Given the description of an element on the screen output the (x, y) to click on. 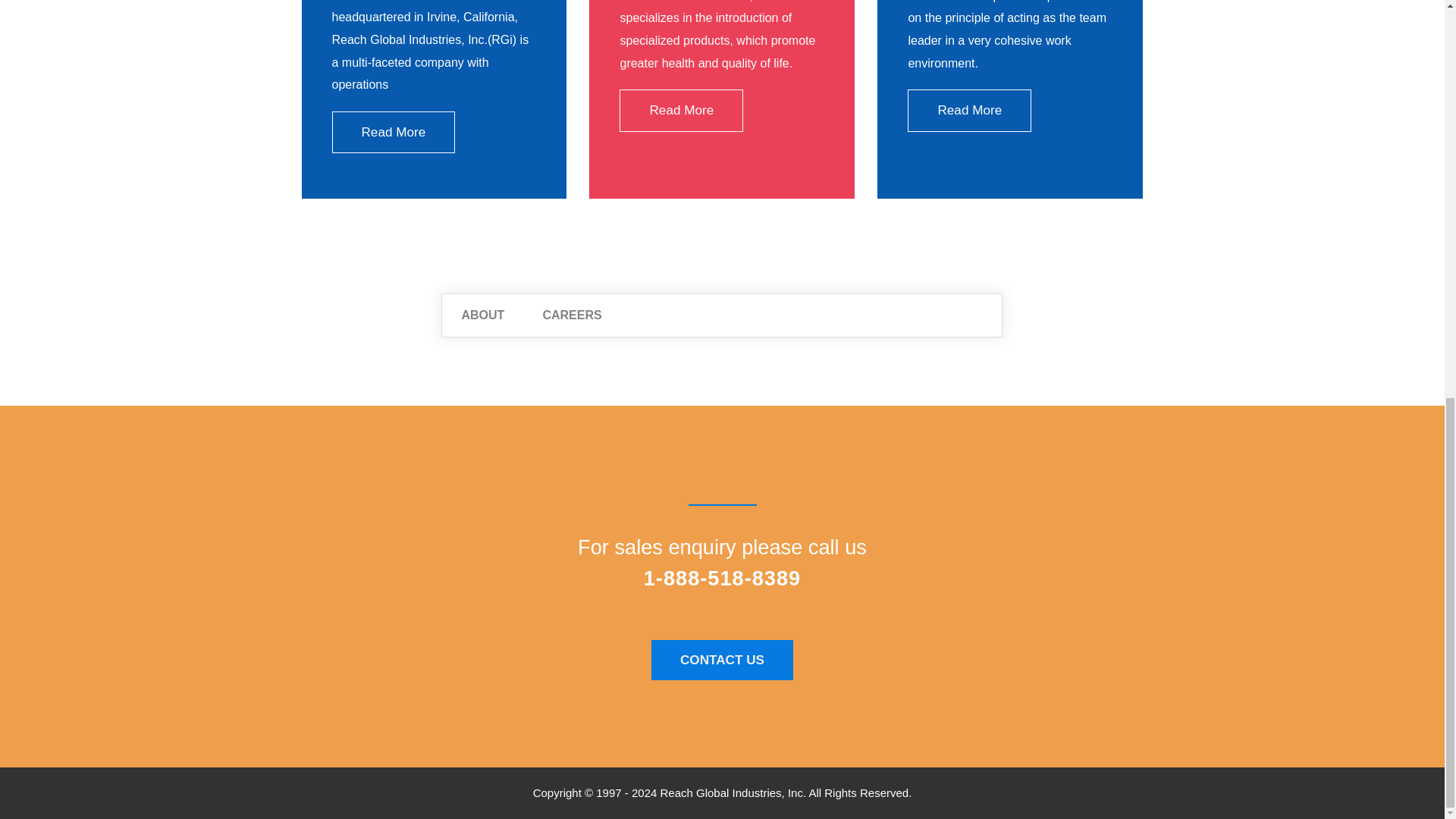
Read More (393, 132)
Read More (681, 110)
CONTACT US (721, 659)
Read More (968, 110)
1-888-518-8389 (722, 577)
